Given the description of an element on the screen output the (x, y) to click on. 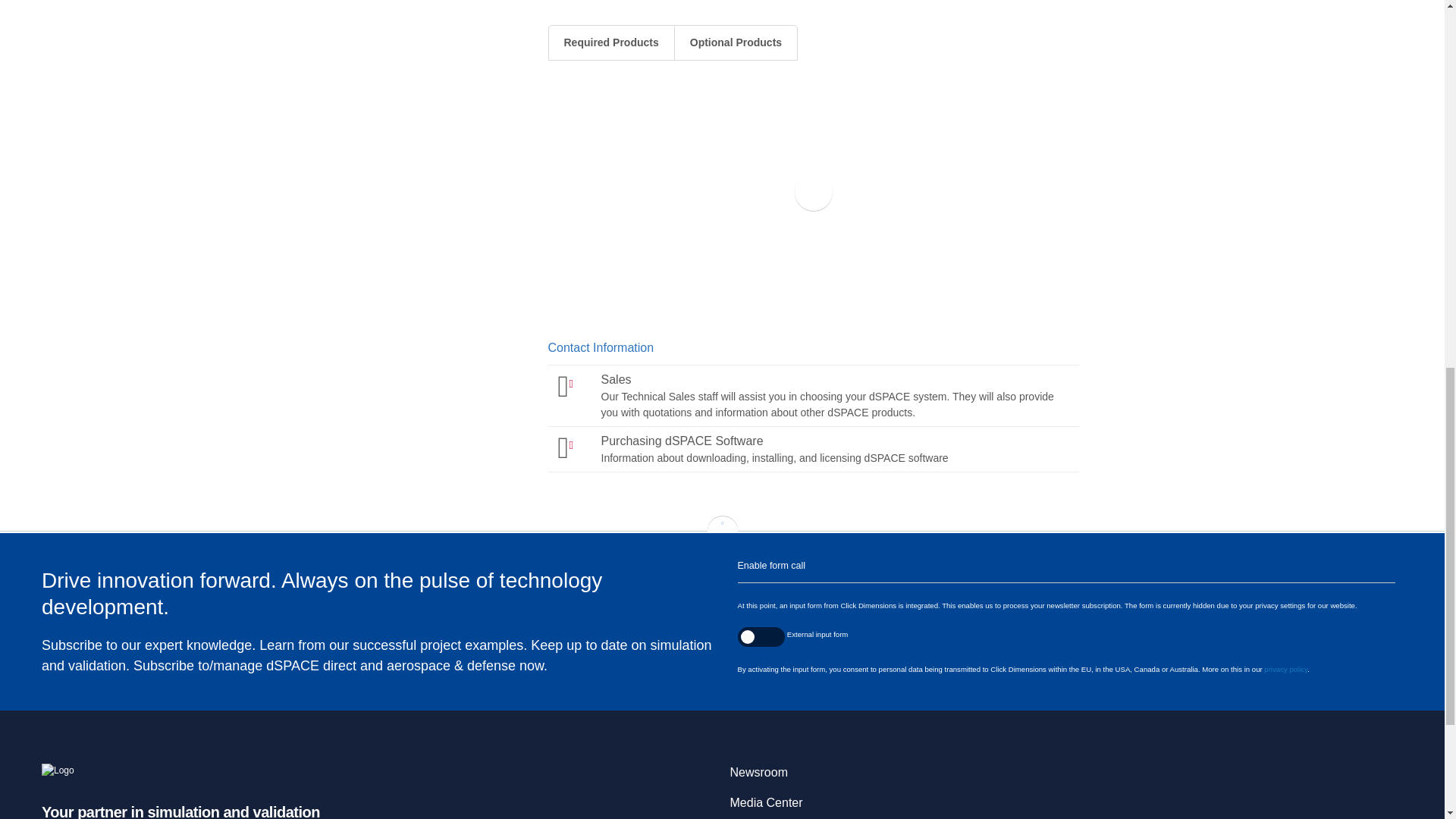
Required Products (611, 41)
Newsroom (758, 771)
Purchasing dSPACE Software (812, 449)
Sales (812, 395)
privacy policy (765, 802)
Optional Products (1285, 669)
